Given the description of an element on the screen output the (x, y) to click on. 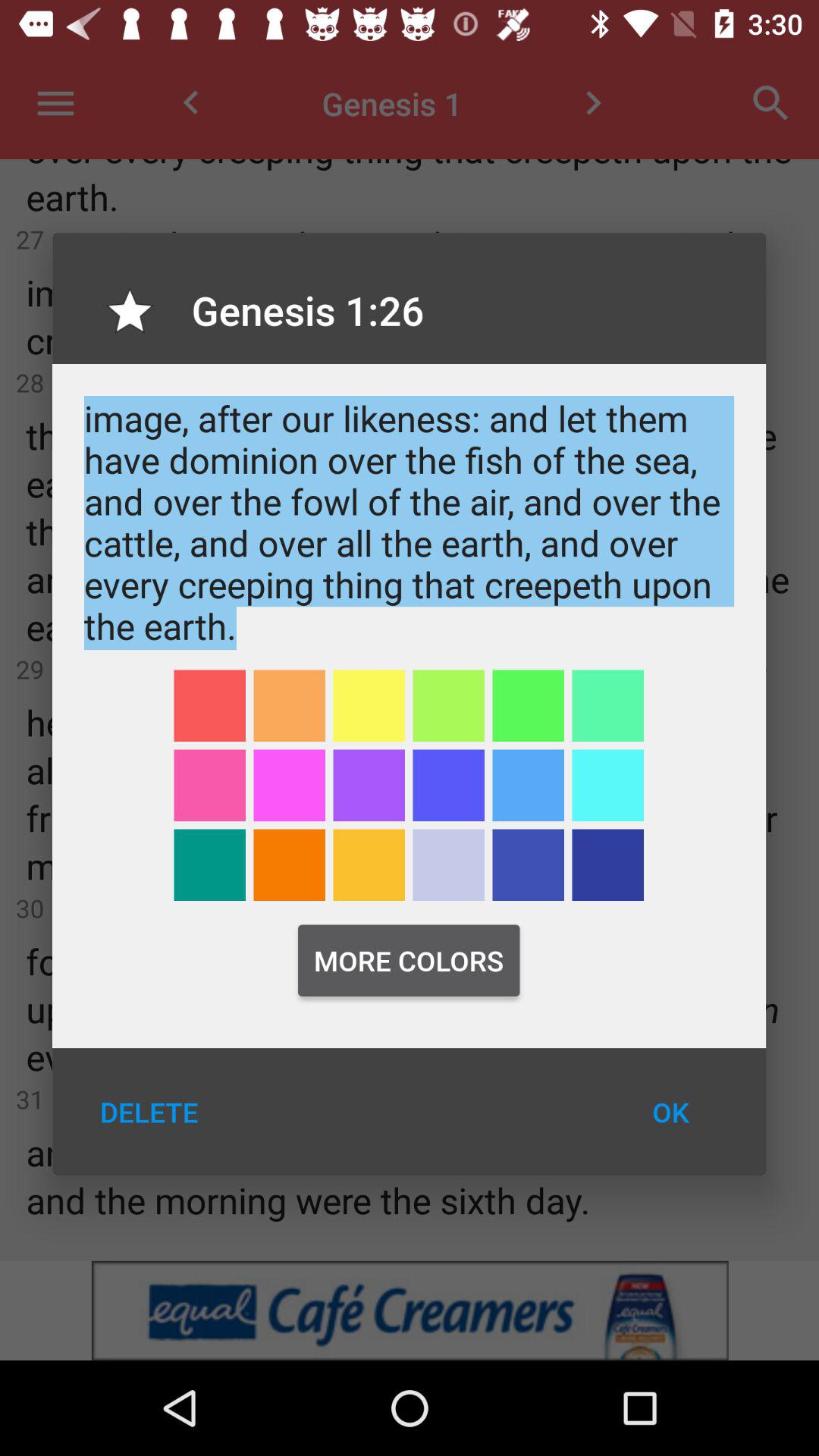
color choice (528, 705)
